Given the description of an element on the screen output the (x, y) to click on. 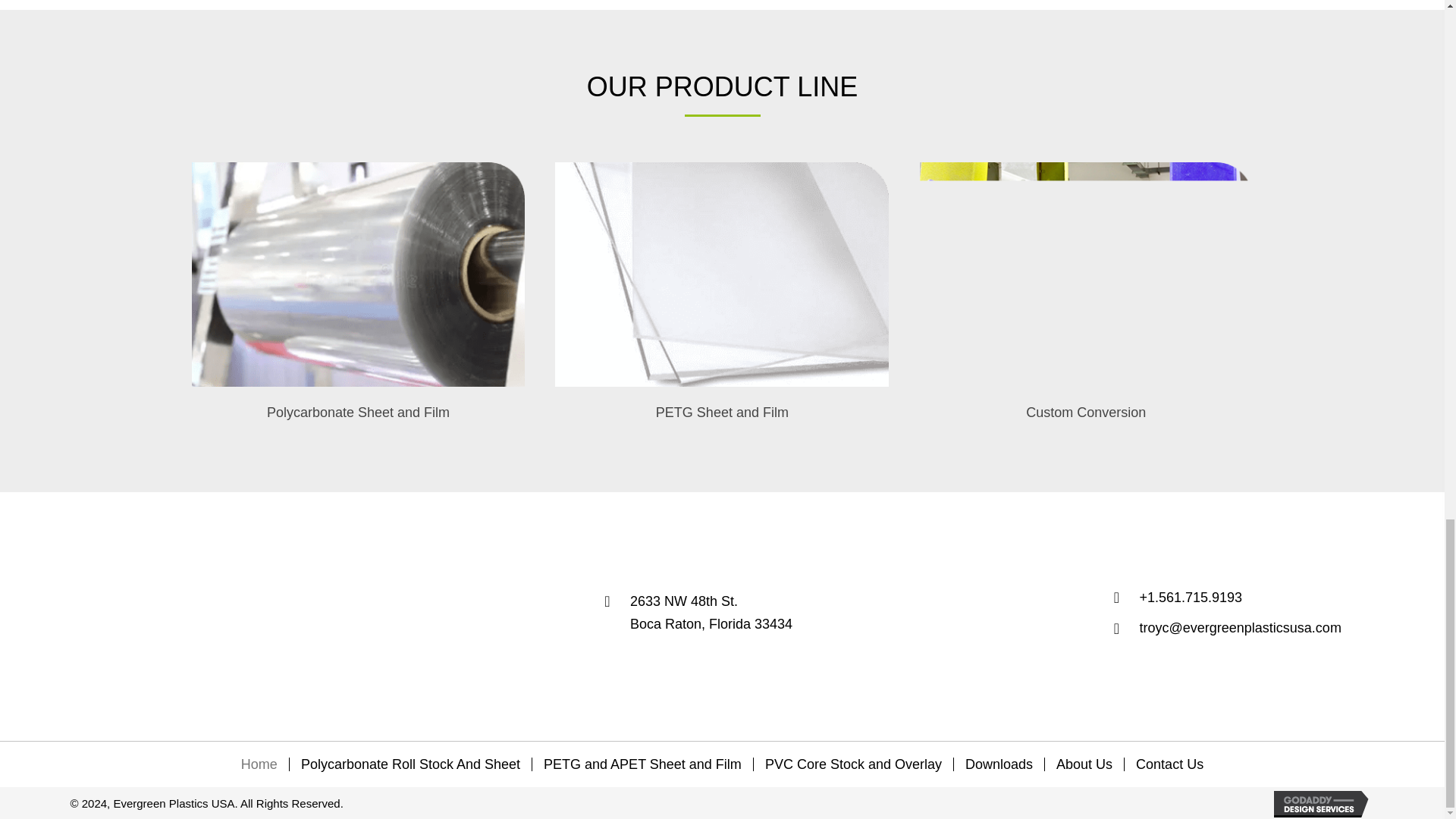
PVC Core Stock and Overlay (853, 764)
Downloads (711, 612)
Evergreen Plastics USA (998, 764)
Polycarbonate Roll Stock And Sheet (175, 616)
Evergreen Plastics USA (410, 764)
Contact Us (721, 274)
About Us (1169, 764)
Evergreen Plastics USA (1084, 764)
PETG and APET Sheet and Film (357, 274)
Sheet Custom Conversion (642, 764)
Home (1085, 274)
